Given the description of an element on the screen output the (x, y) to click on. 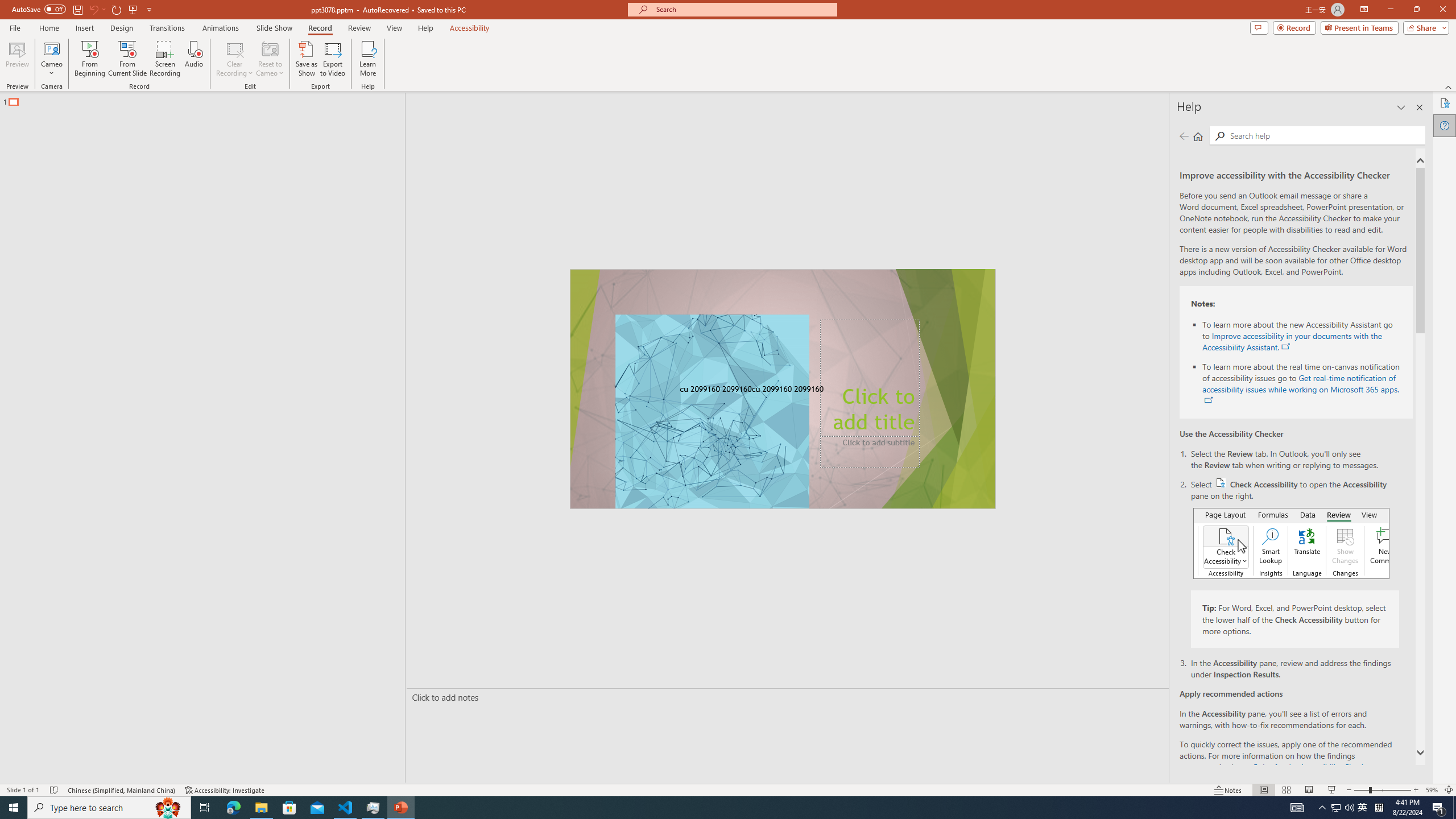
Google Chrome (729, 800)
Typora (163, 254)
2406.12373v2.pdf (1340, 254)
2311.03658v2.pdf (1210, 254)
Blender 4.1 (163, 178)
